Given the description of an element on the screen output the (x, y) to click on. 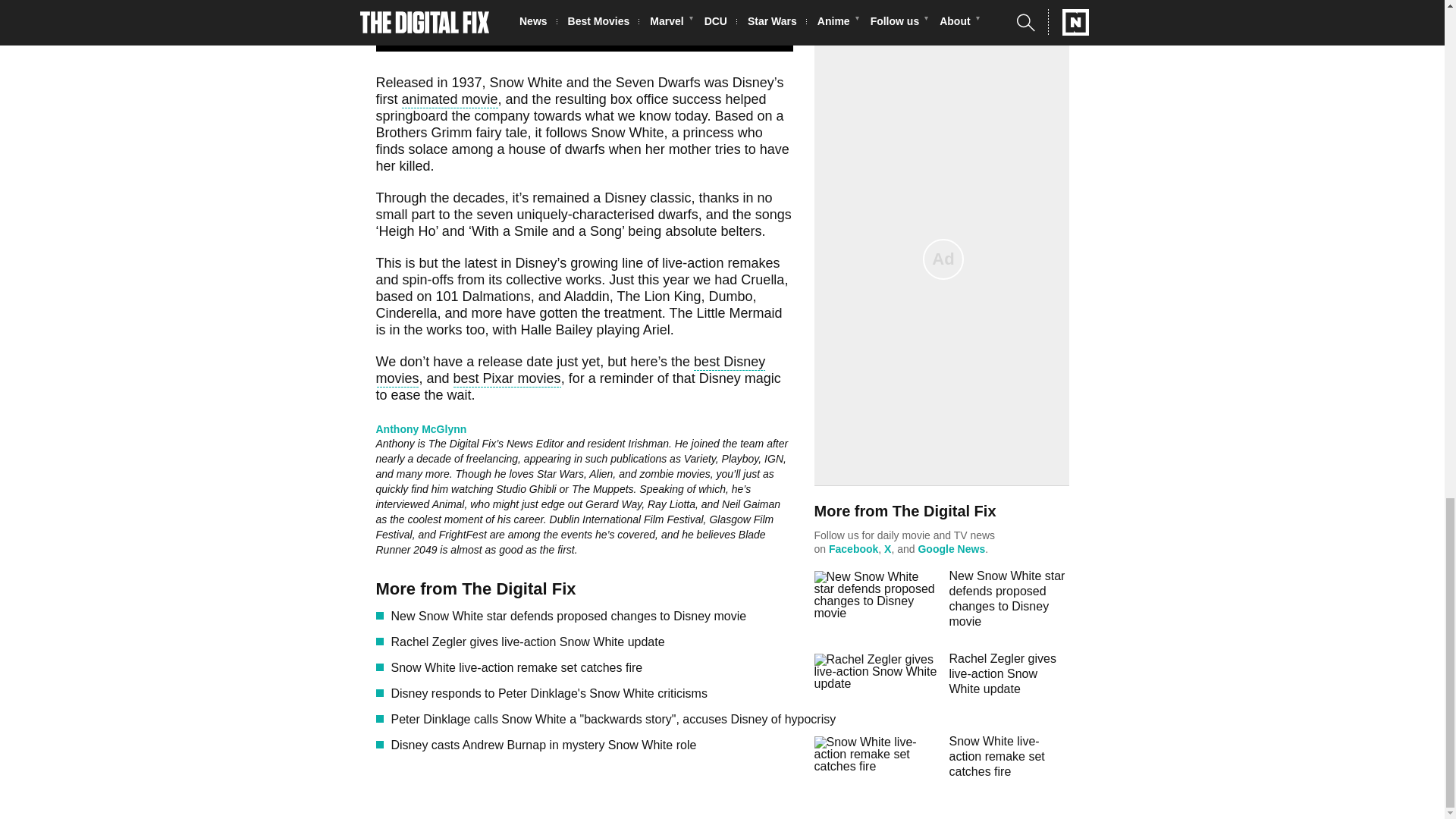
animated movie (449, 100)
best Disney movies (570, 371)
best Pixar movies (506, 380)
